Given the description of an element on the screen output the (x, y) to click on. 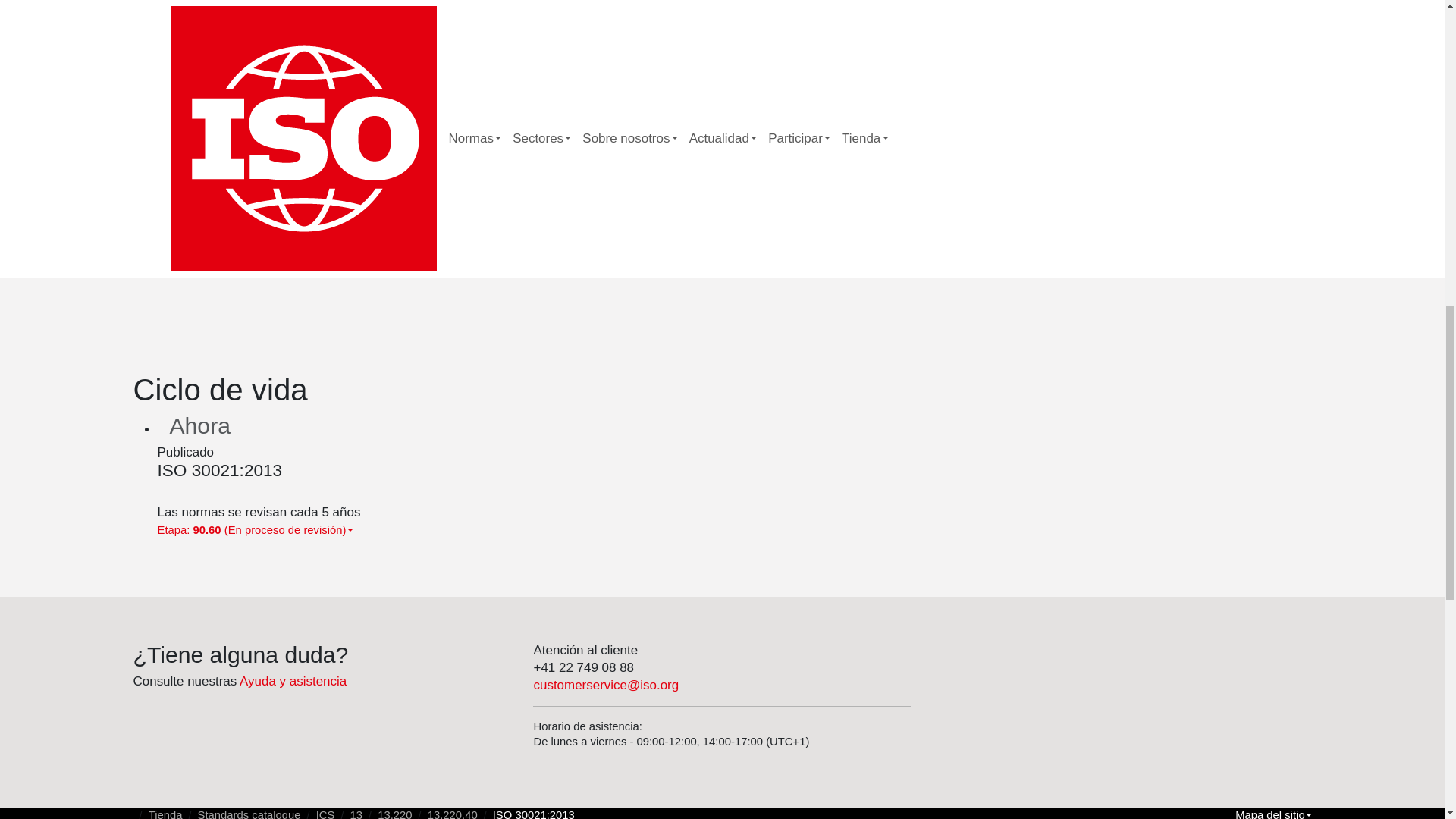
Ignitability and burning behaviour of materials and products (986, 243)
Burning behaviour (1004, 208)
90.60 (1102, 104)
Plastics in general (1051, 243)
13.220.40 (986, 243)
90.60 (1102, 104)
